Given the description of an element on the screen output the (x, y) to click on. 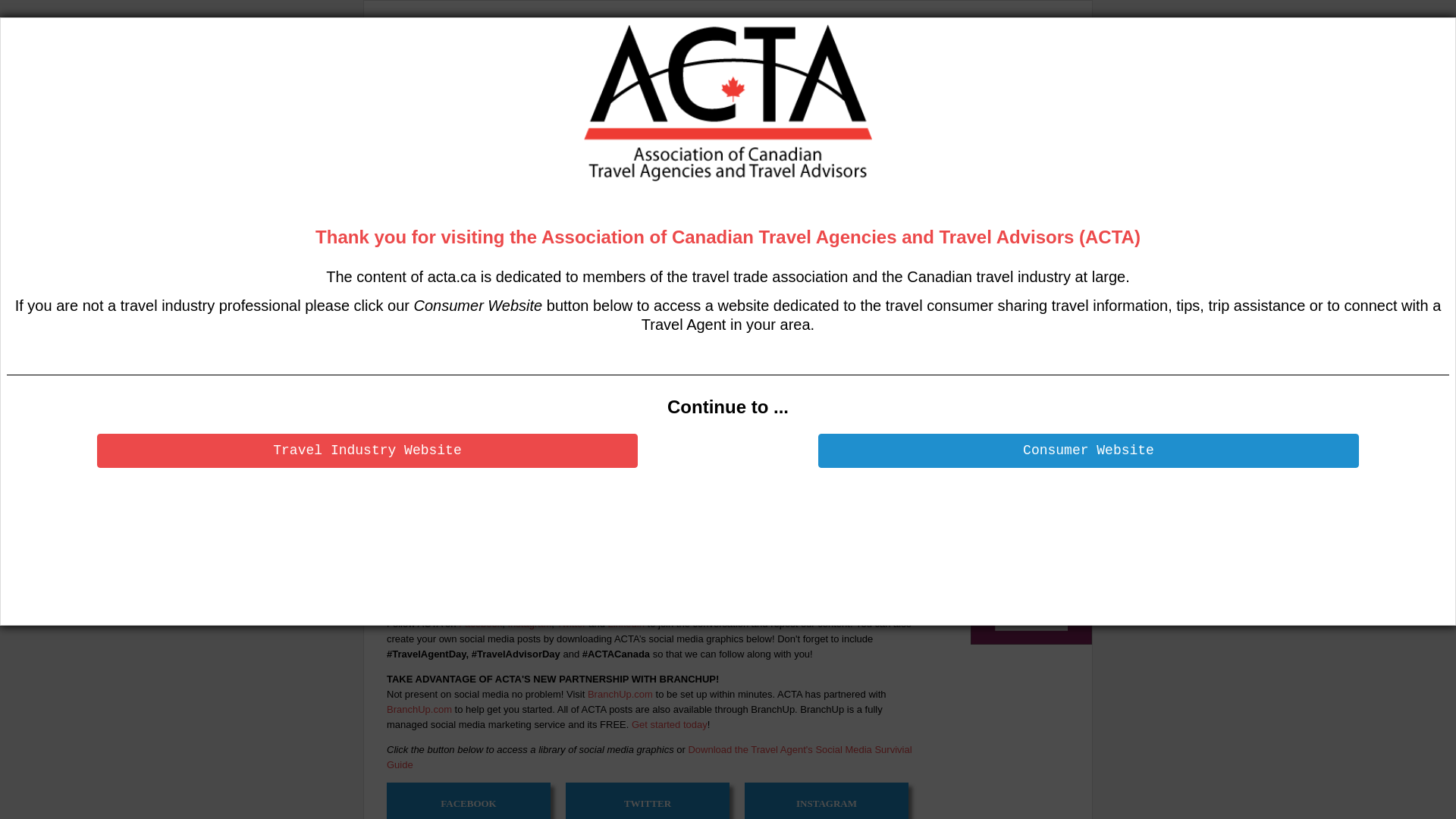
Download the Travel Agent's Social Media Survivial Guide Element type: text (649, 756)
Instagram Element type: text (529, 623)
Twitter Element type: text (570, 623)
Travel Industry Website Element type: text (367, 450)
STEP 1: CELEBRATE YOUR DAY! HAVE SOME FUN, WIN A PRIZE Element type: text (657, 407)
Facebook Element type: text (480, 623)
EDUCATION Element type: text (640, 123)
STEP 2: PROMOTE YOURSELF Element type: text (657, 591)
BranchUp.com Element type: text (418, 709)
CONTACT US Element type: text (413, 150)
Log On Element type: text (542, 179)
MEMBER BENEFITS Element type: text (547, 123)
Join Element type: text (570, 179)
3rd party ad content Element type: hover (816, 62)
HOME Element type: text (401, 123)
ABOUT Element type: text (463, 123)
Get started today Element type: text (669, 724)
MEMBER RESOURCES Element type: text (875, 123)
Consumer Website Element type: text (1088, 450)
BECOME A TRAVEL ADVISOR Element type: text (748, 123)
Linkedin Element type: text (626, 623)
BranchUp.com Element type: text (619, 693)
MEMBERSHIP Element type: text (974, 123)
